Given the description of an element on the screen output the (x, y) to click on. 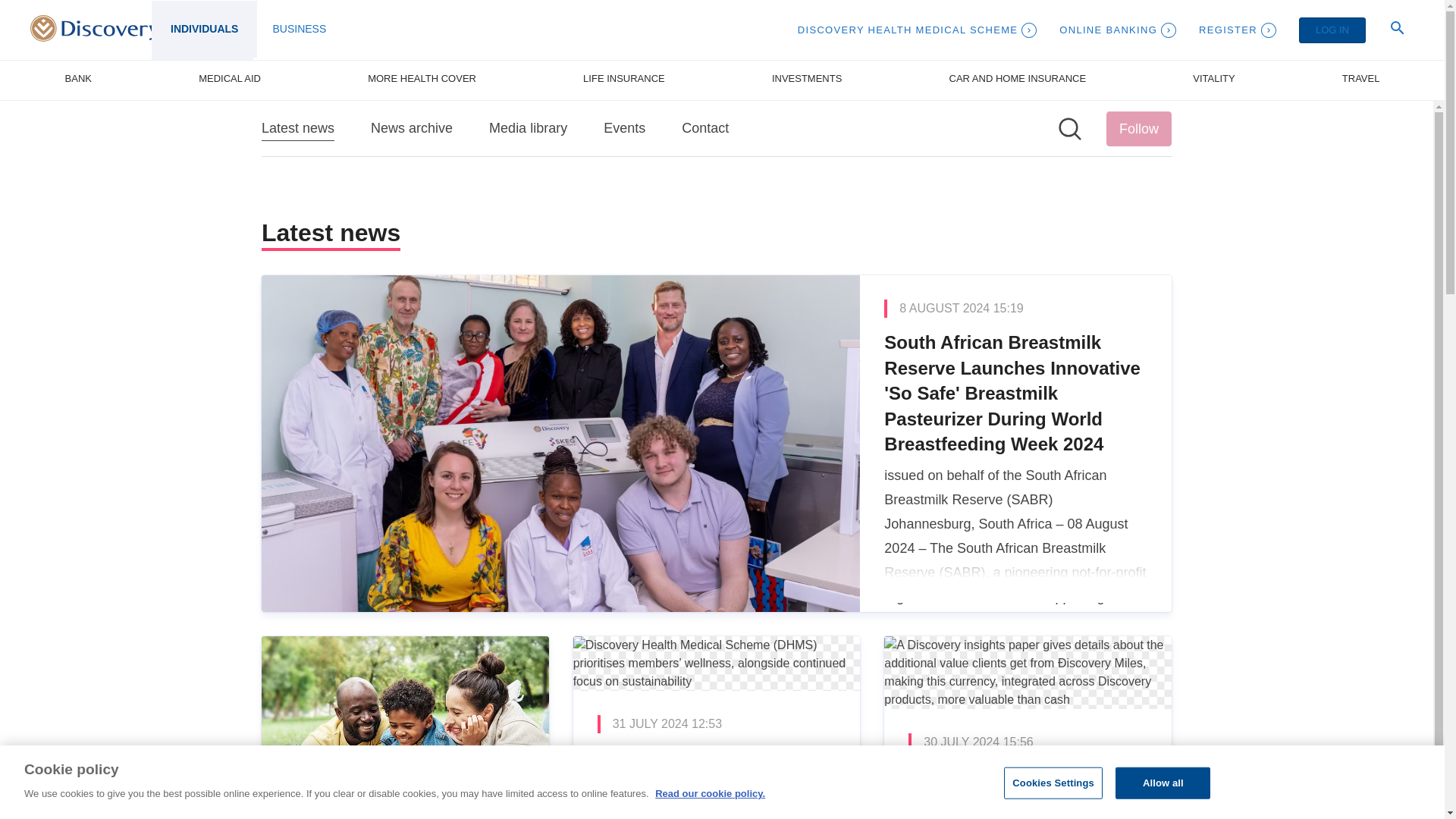
REGISTER (1237, 29)
ONLINE BANKING (1117, 29)
LOG IN (1331, 30)
BUSINESS (299, 29)
DISCOVERY HEALTH MEDICAL SCHEME (916, 29)
INDIVIDUALS (204, 29)
